Given the description of an element on the screen output the (x, y) to click on. 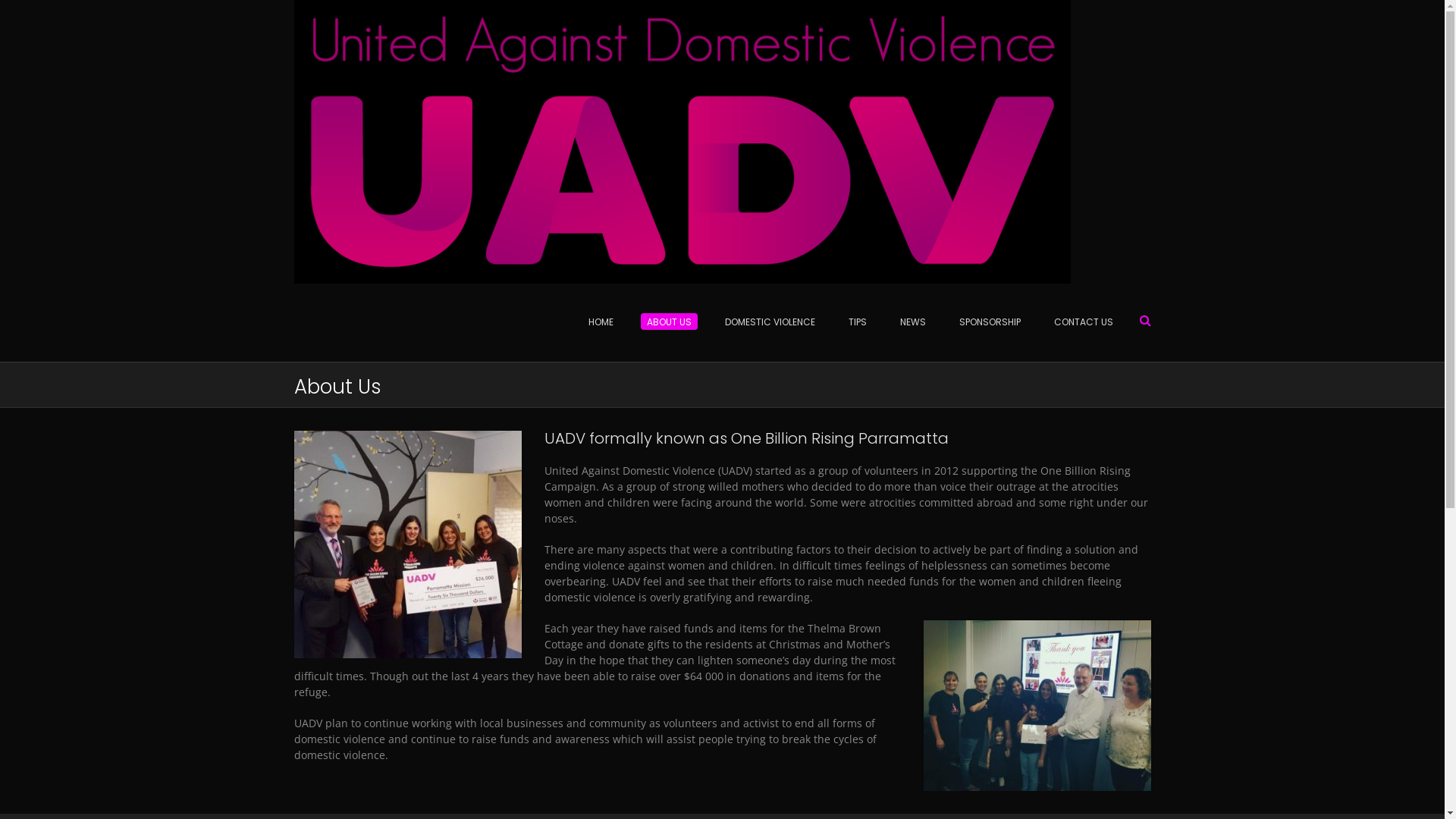
HOME Element type: text (600, 322)
CONTACT US Element type: text (1078, 322)
TIPS Element type: text (856, 322)
NEWS Element type: text (911, 322)
SPONSORSHIP Element type: text (988, 322)
DOMESTIC VIOLENCE Element type: text (769, 322)
ABOUT US Element type: text (668, 322)
